Given the description of an element on the screen output the (x, y) to click on. 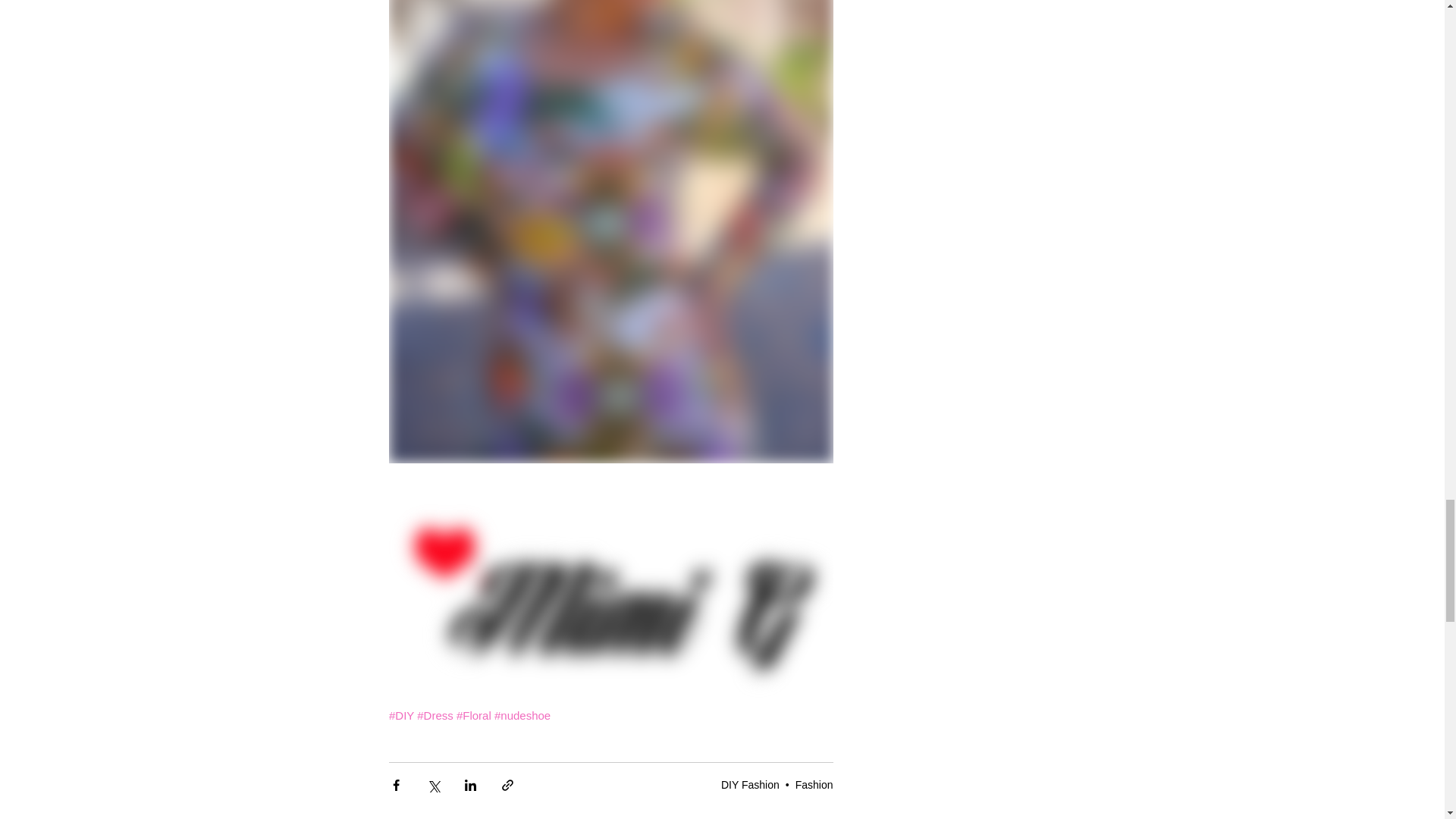
Fashion (813, 784)
DIY Fashion (749, 784)
